Given the description of an element on the screen output the (x, y) to click on. 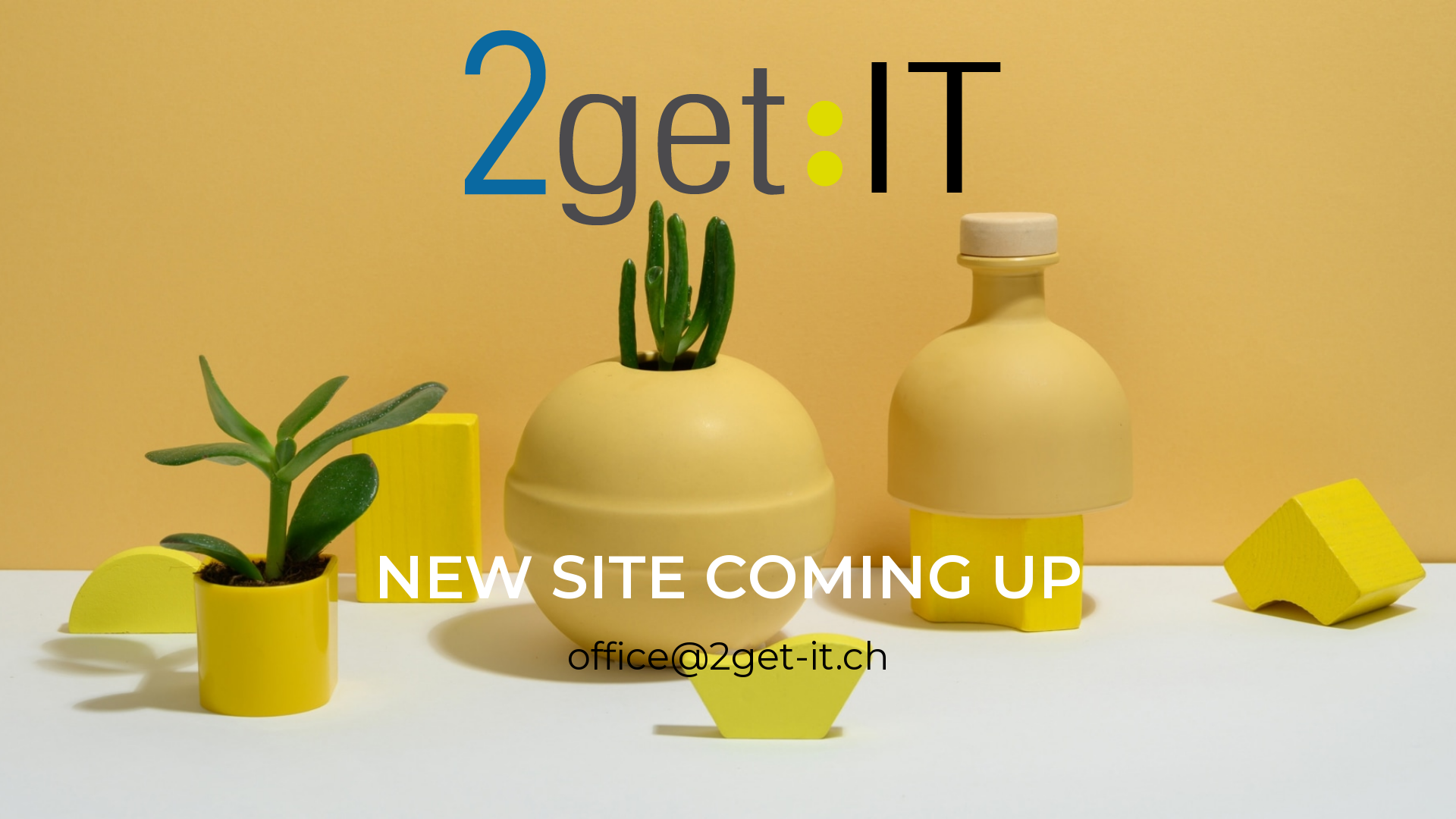
office@2get-it.ch Element type: text (728, 656)
